Given the description of an element on the screen output the (x, y) to click on. 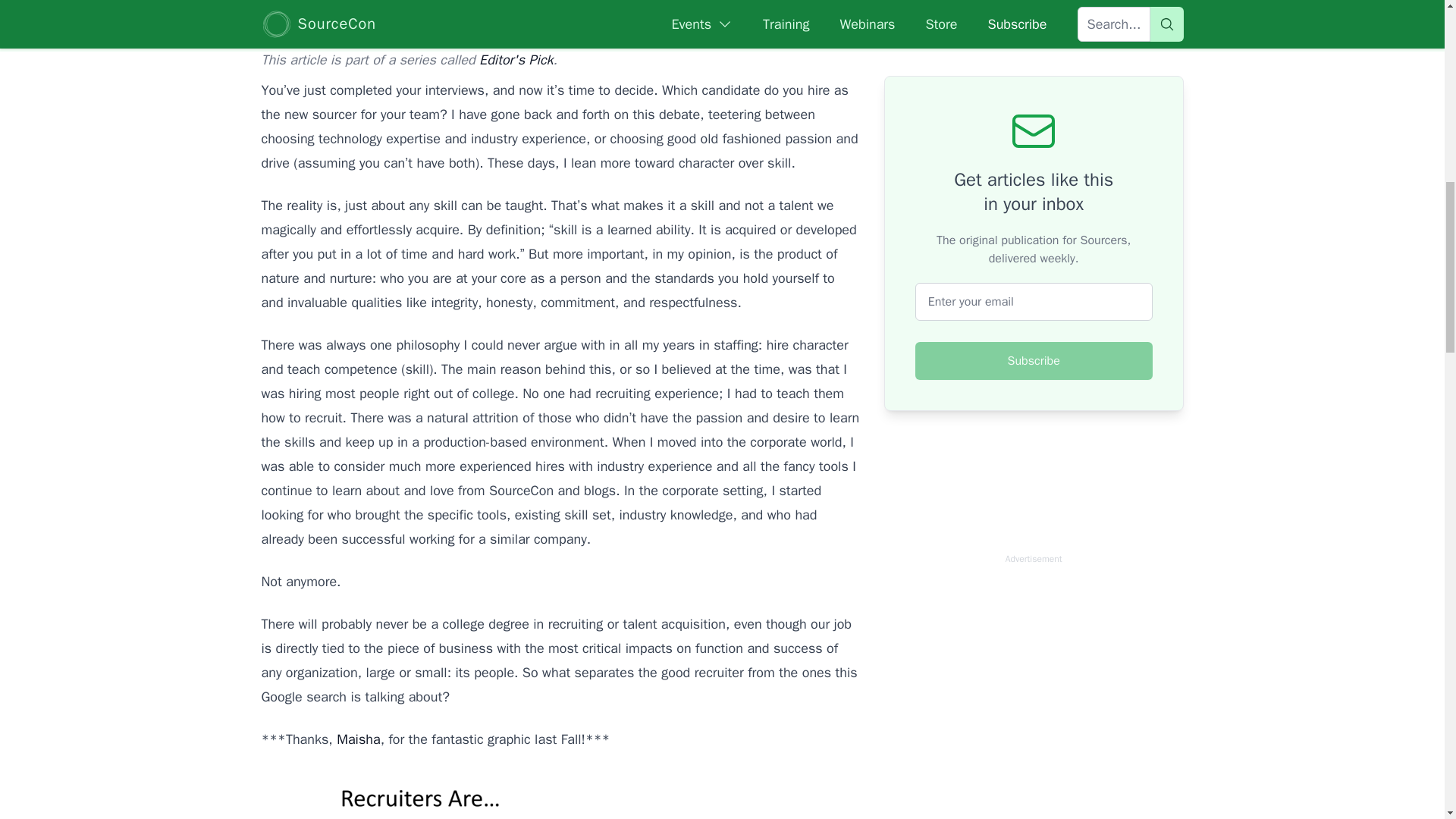
Editor's Pick (516, 59)
Maisha (358, 739)
3rd party ad content (1033, 694)
